Given the description of an element on the screen output the (x, y) to click on. 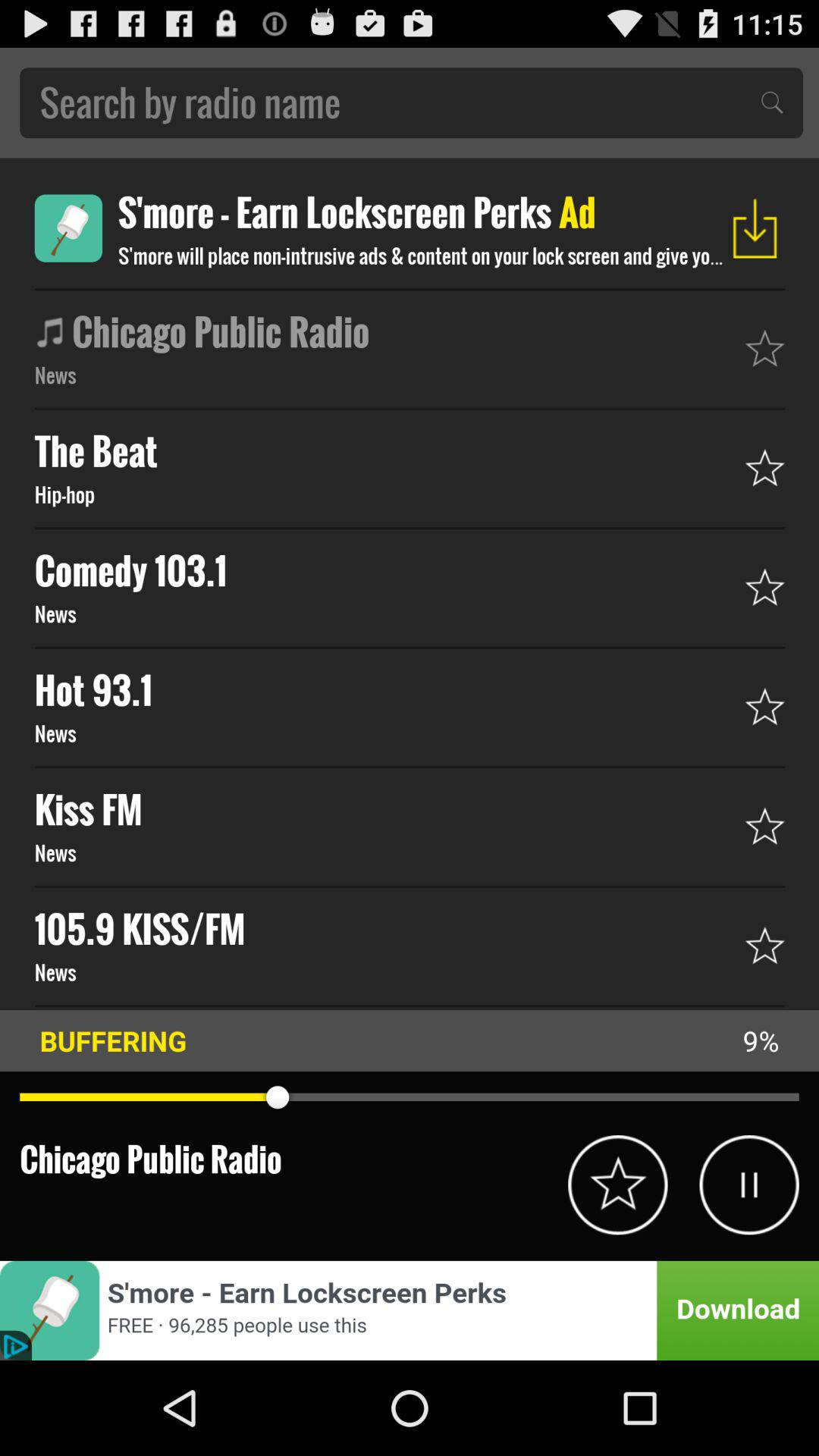
search for an article (411, 102)
